Given the description of an element on the screen output the (x, y) to click on. 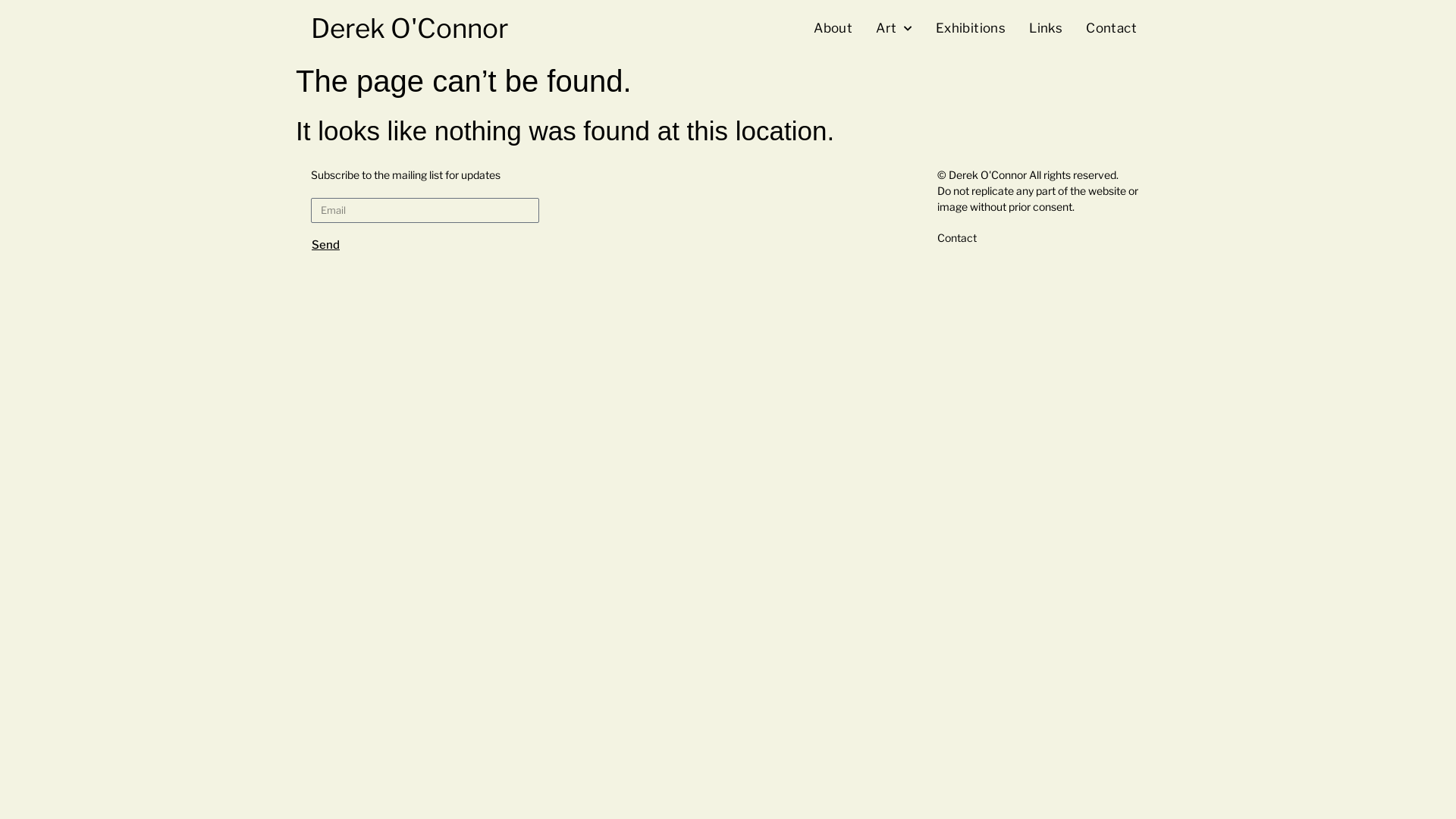
Derek O'Connor Element type: text (409, 28)
Contact Element type: text (956, 236)
Contact Element type: text (1111, 27)
Links Element type: text (1045, 27)
Send Element type: text (325, 245)
About Element type: text (832, 27)
Art Element type: text (893, 27)
Exhibitions Element type: text (970, 27)
